Given the description of an element on the screen output the (x, y) to click on. 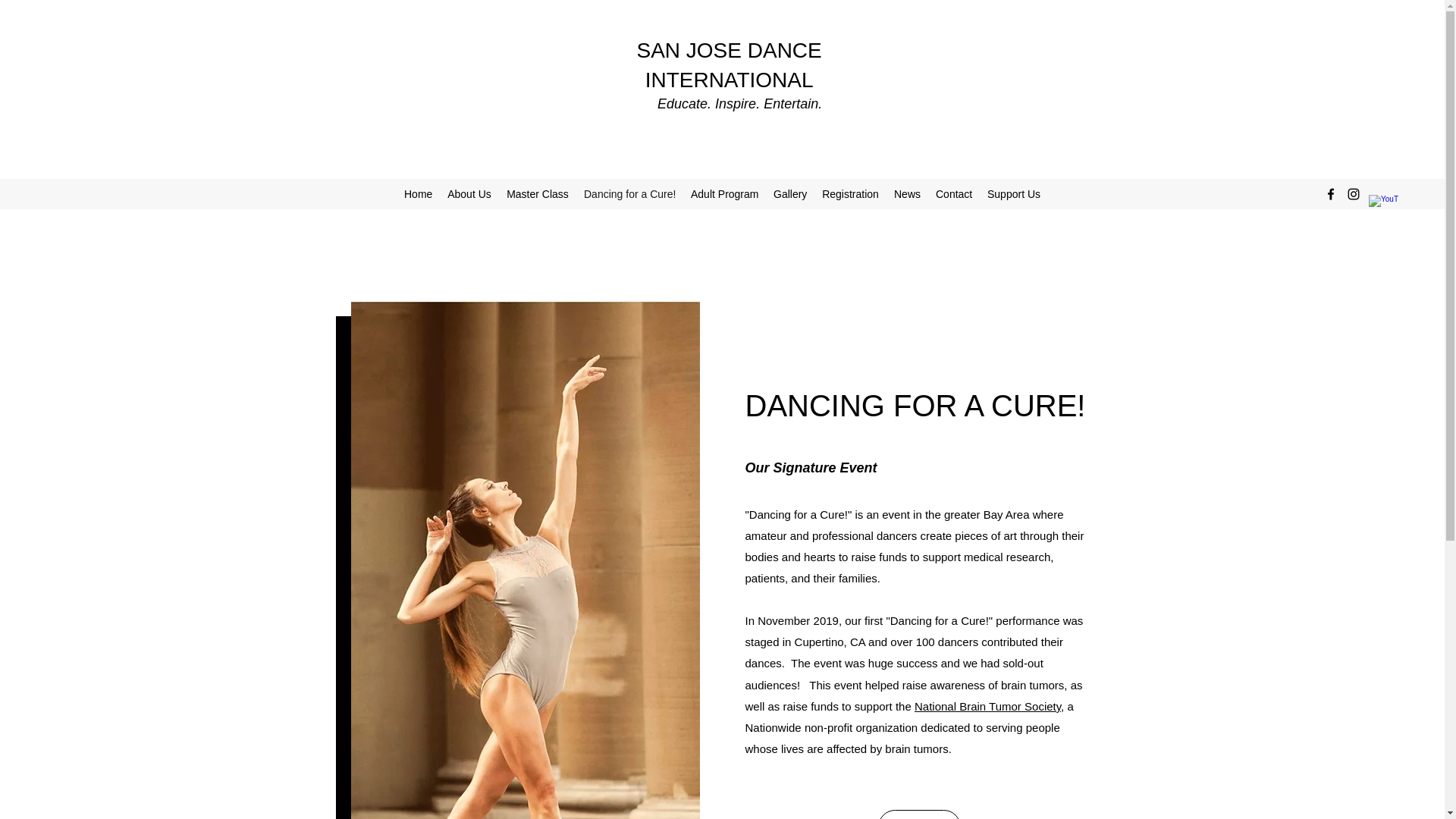
Master Class (537, 192)
Registration (849, 192)
Home (417, 192)
Gallery (789, 192)
Past Event (918, 814)
National Brain Tumor Society (987, 706)
About Us (469, 192)
News (907, 192)
Dancing for a Cure! (629, 192)
Contact (953, 192)
Support Us (1013, 192)
SAN JOSE DANCE INTERNATIONAL (728, 64)
Adult Program (723, 192)
